Given the description of an element on the screen output the (x, y) to click on. 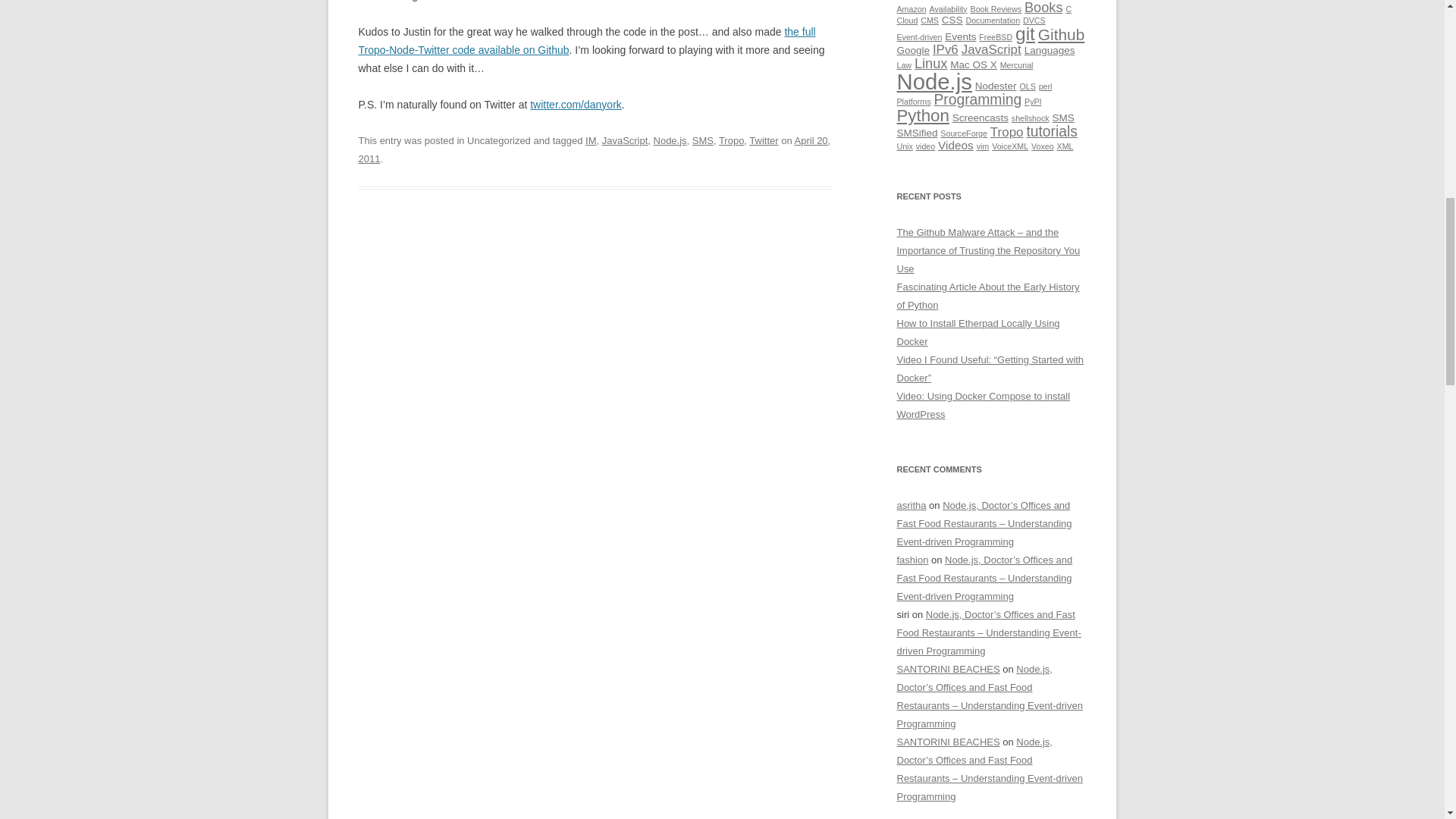
Availability (947, 8)
April 20, 2011 (593, 149)
Twitter (763, 140)
8:53 pm (593, 149)
Amazon (911, 8)
Node.js (670, 140)
SMS (703, 140)
Tropo (731, 140)
IM (590, 140)
the full Tropo-Node-Twitter code available on Github (586, 40)
